Given the description of an element on the screen output the (x, y) to click on. 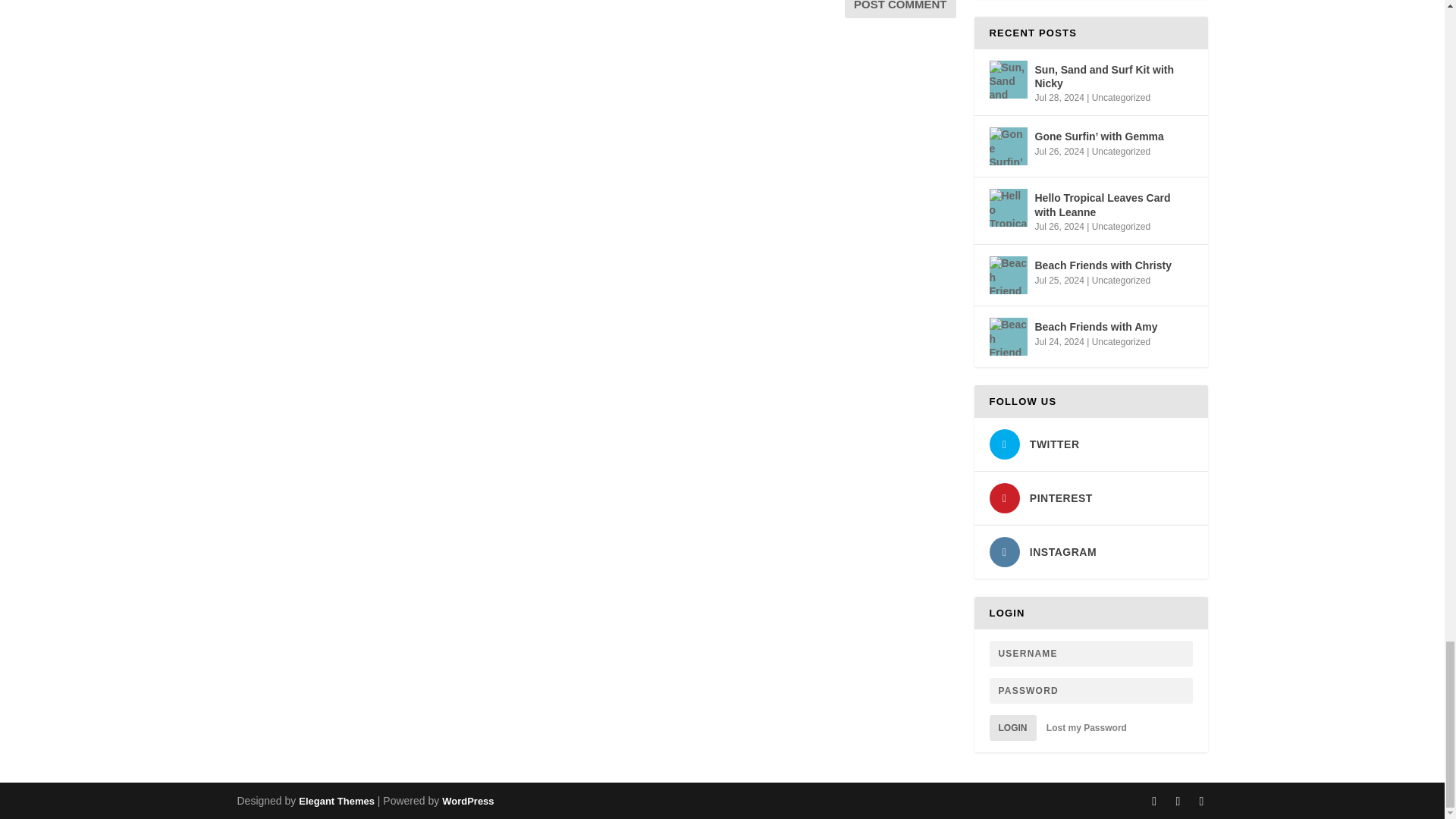
Post Comment (900, 9)
